Given the description of an element on the screen output the (x, y) to click on. 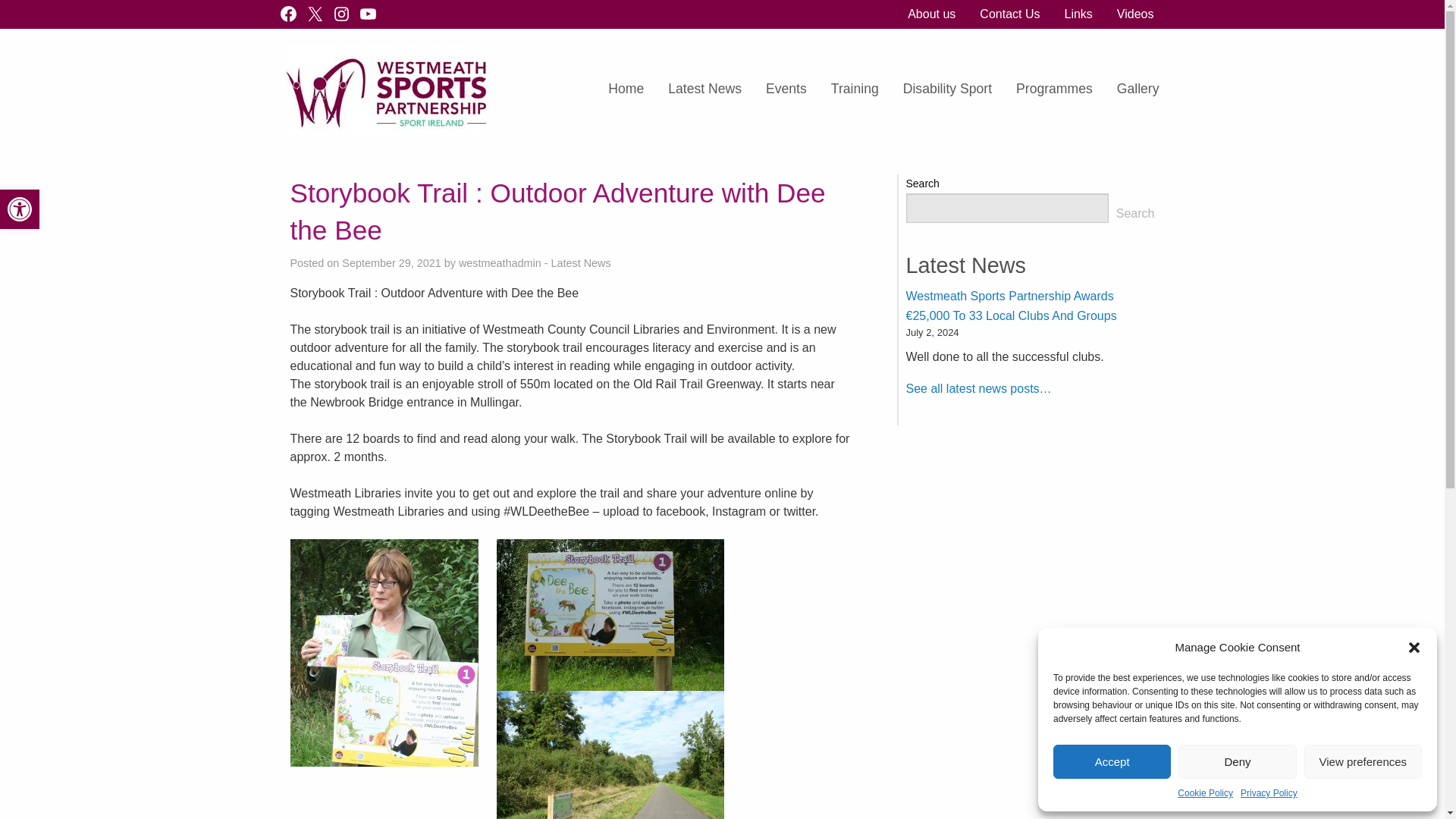
Posts by westmeathadmin (499, 263)
Home (19, 209)
Disability Sport (625, 89)
Latest News (947, 89)
Accessibility Tools (705, 89)
Training (19, 209)
About us (854, 89)
Contact Us (931, 14)
Deny (1009, 14)
Cookie Policy (1236, 761)
Accept (1205, 793)
Privacy Policy (1111, 761)
View preferences (1268, 793)
Links (1363, 761)
